Given the description of an element on the screen output the (x, y) to click on. 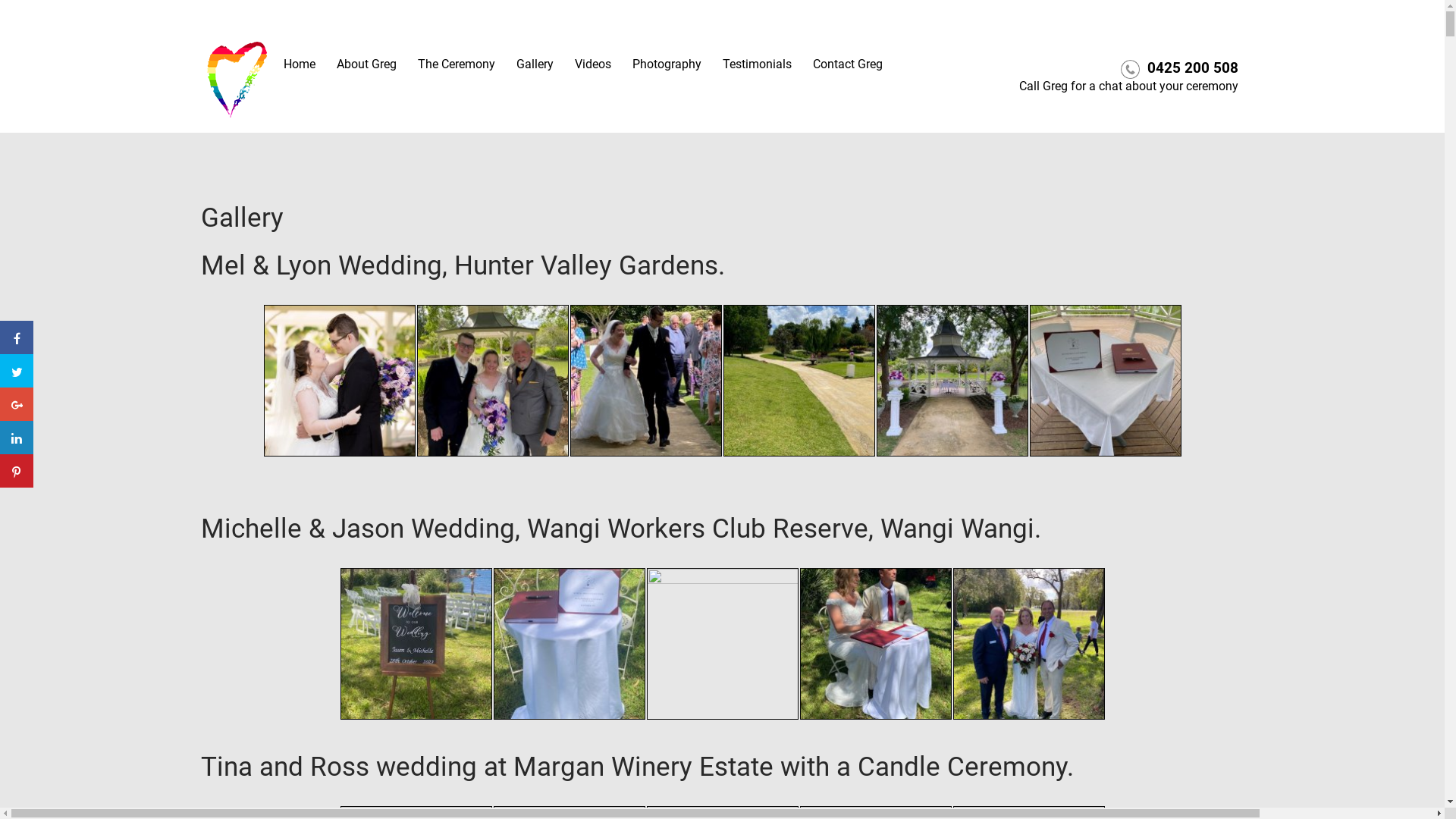
Photography Element type: text (666, 63)
Home Element type: text (299, 63)
Testimonials Element type: text (755, 63)
Photography Element type: text (666, 63)
The Ceremony Element type: text (455, 63)
Videos Element type: text (592, 63)
Contact Greg Element type: text (847, 63)
0425 200 508 Element type: text (1191, 67)
About Greg Element type: text (366, 63)
Gallery Element type: text (533, 63)
